Given the description of an element on the screen output the (x, y) to click on. 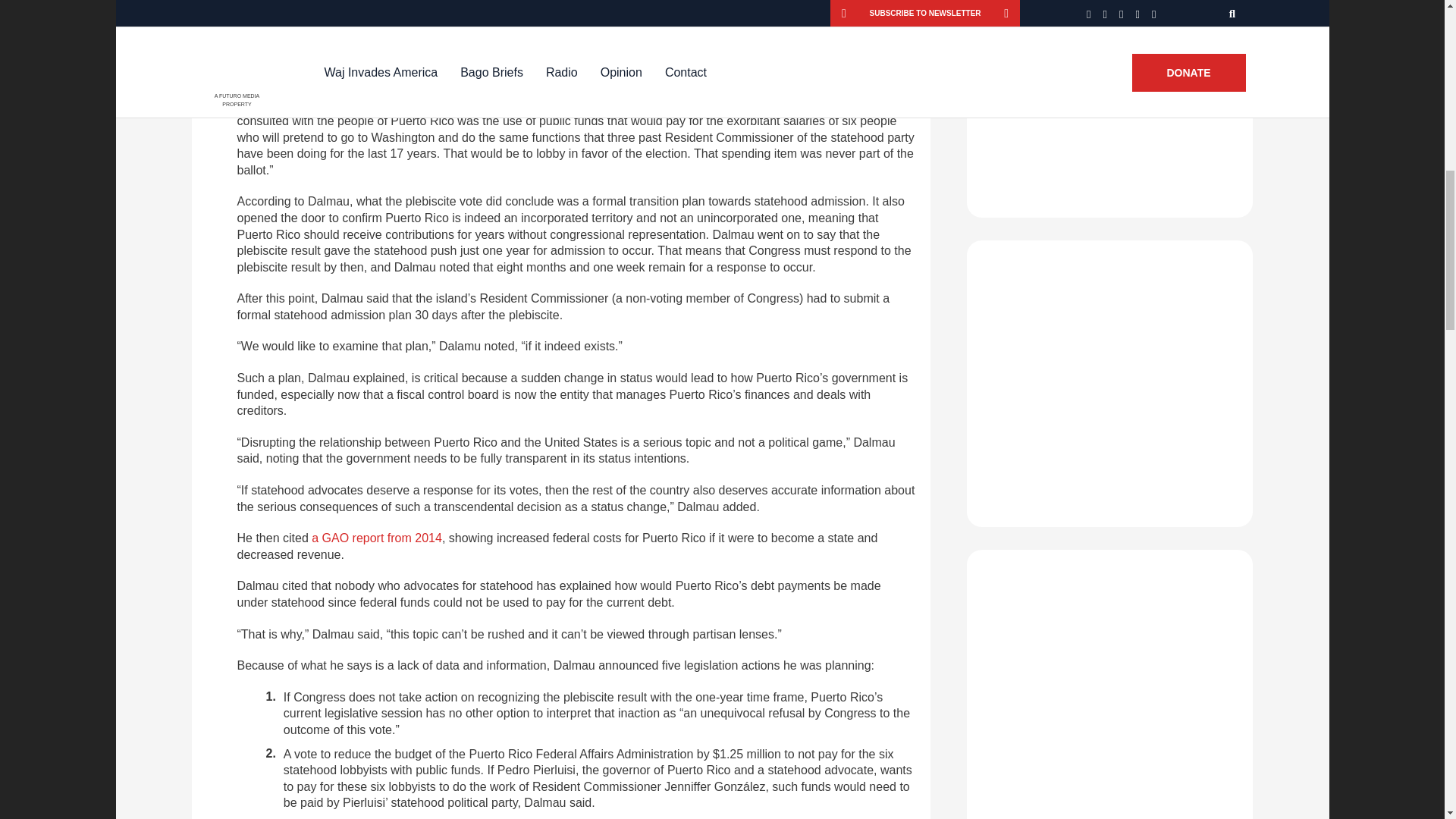
a GAO report from 2014 (376, 537)
